Given the description of an element on the screen output the (x, y) to click on. 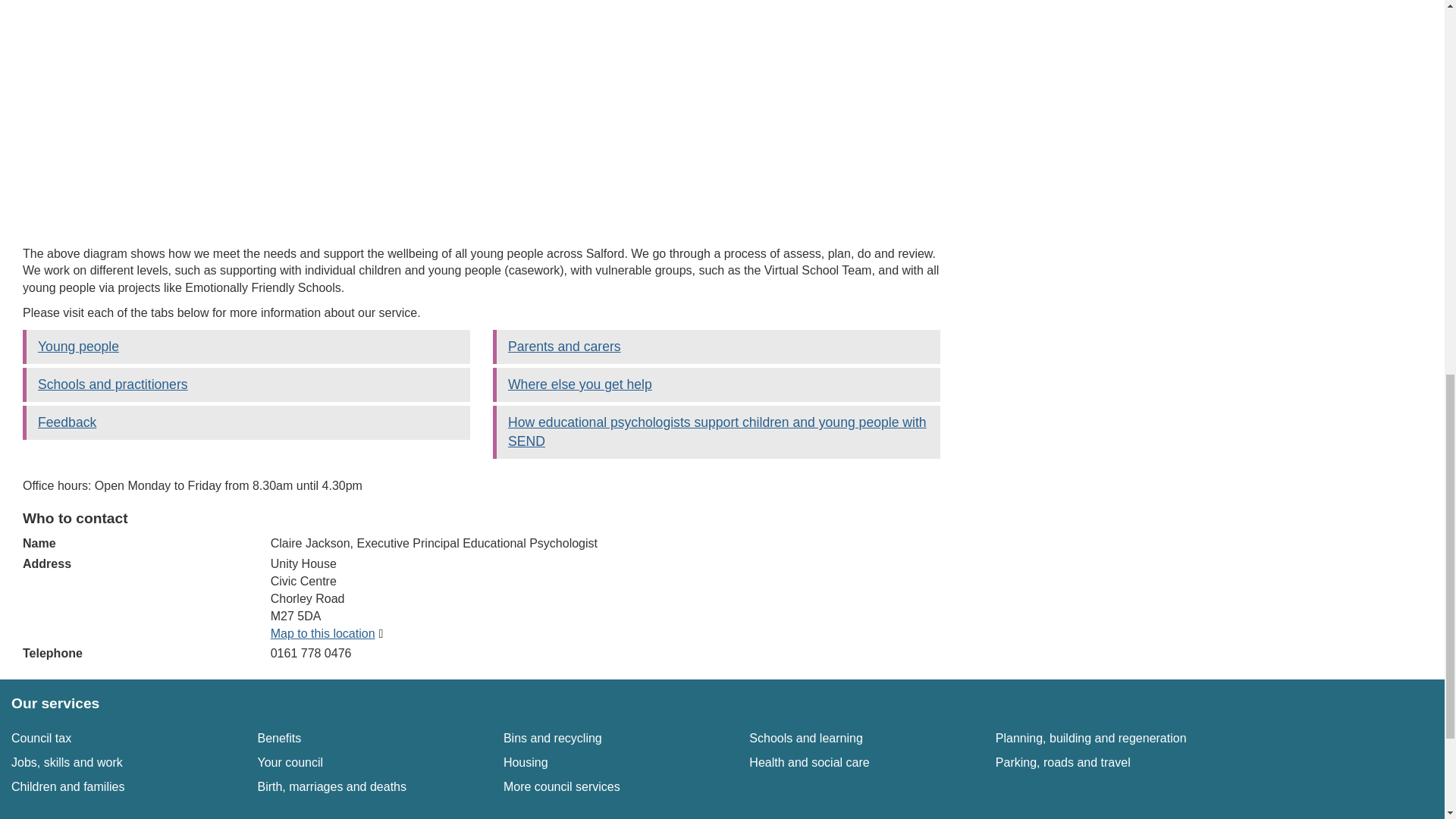
Map to this location (328, 633)
Where else you get help (809, 762)
Parents and carers (331, 786)
